Given the description of an element on the screen output the (x, y) to click on. 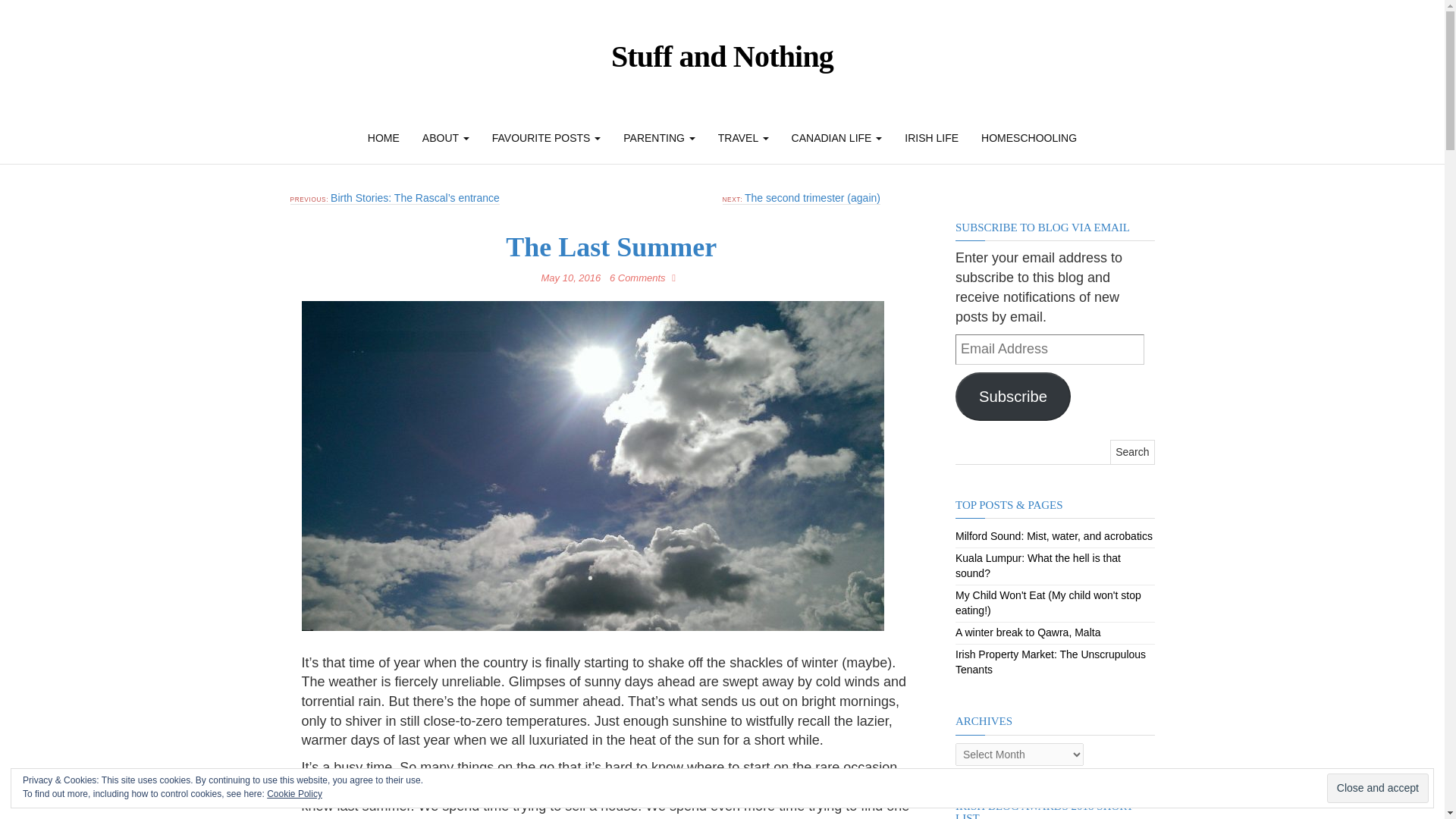
Search (1131, 452)
Parenting (658, 137)
Stuff and Nothing (721, 56)
Close and accept (1377, 788)
About (445, 137)
ABOUT (445, 137)
TRAVEL (743, 137)
Home (383, 137)
PARENTING (658, 137)
Favourite Posts (546, 137)
HOMESCHOOLING (1028, 137)
CANADIAN LIFE (836, 137)
6 Comments (640, 277)
FAVOURITE POSTS (546, 137)
IRISH LIFE (931, 137)
